Given the description of an element on the screen output the (x, y) to click on. 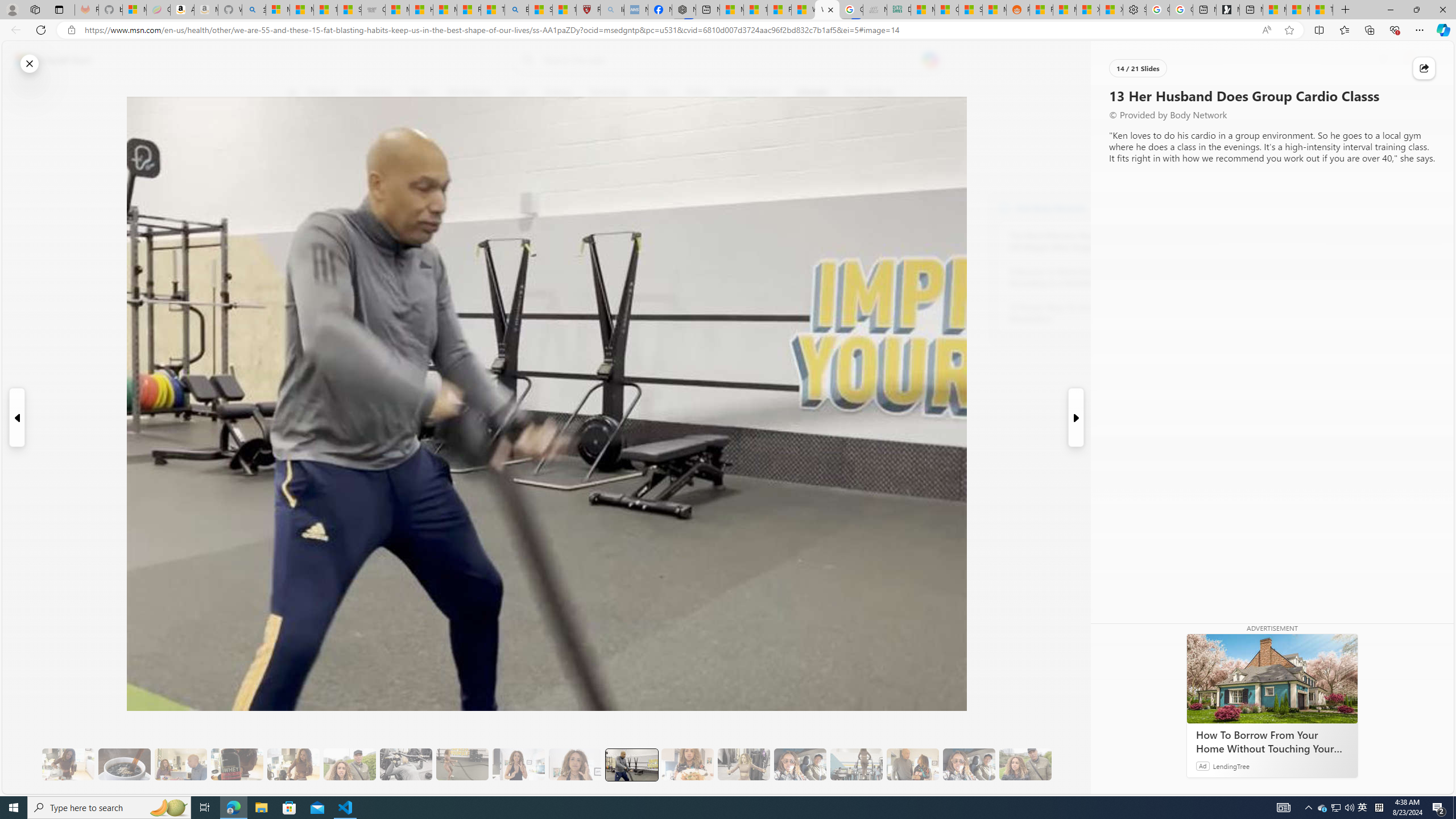
Previous Slide (16, 417)
14 They Have Salmon and Veggies for Dinner (687, 764)
Class: at-item immersive (1423, 68)
13 Her Husband Does Group Cardio Classs (631, 764)
5 She Eats Less Than Her Husband (180, 764)
15 They Also Indulge in a Low-Calorie Sweet Treat (743, 764)
